Given the description of an element on the screen output the (x, y) to click on. 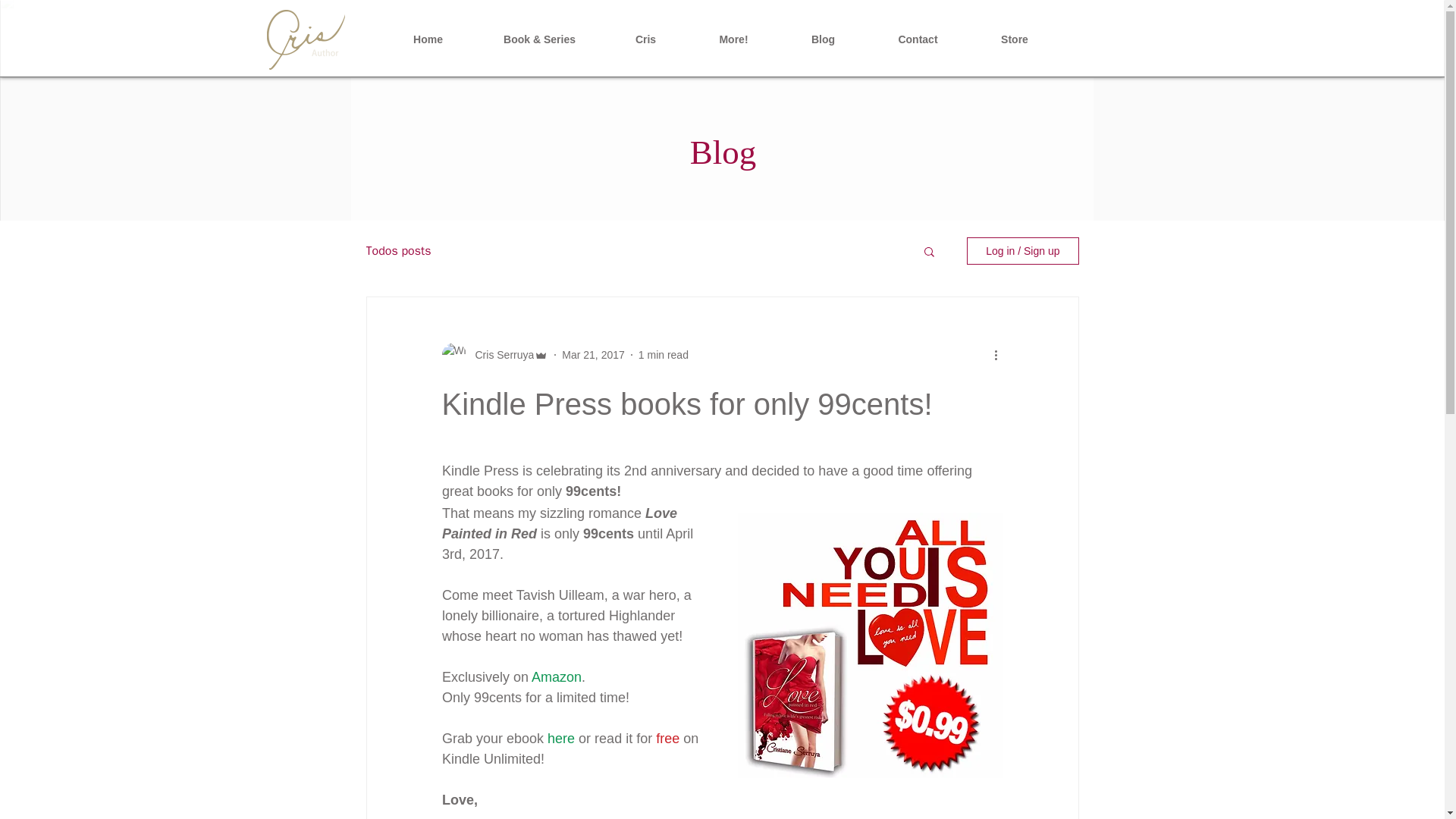
free (667, 738)
Blog (822, 39)
Todos posts (397, 250)
1 min read (663, 354)
Contact (917, 39)
here (561, 738)
Mar 21, 2017 (593, 354)
Cris Serruya (499, 355)
Store (1014, 39)
Home (427, 39)
Amazon (555, 676)
